Given the description of an element on the screen output the (x, y) to click on. 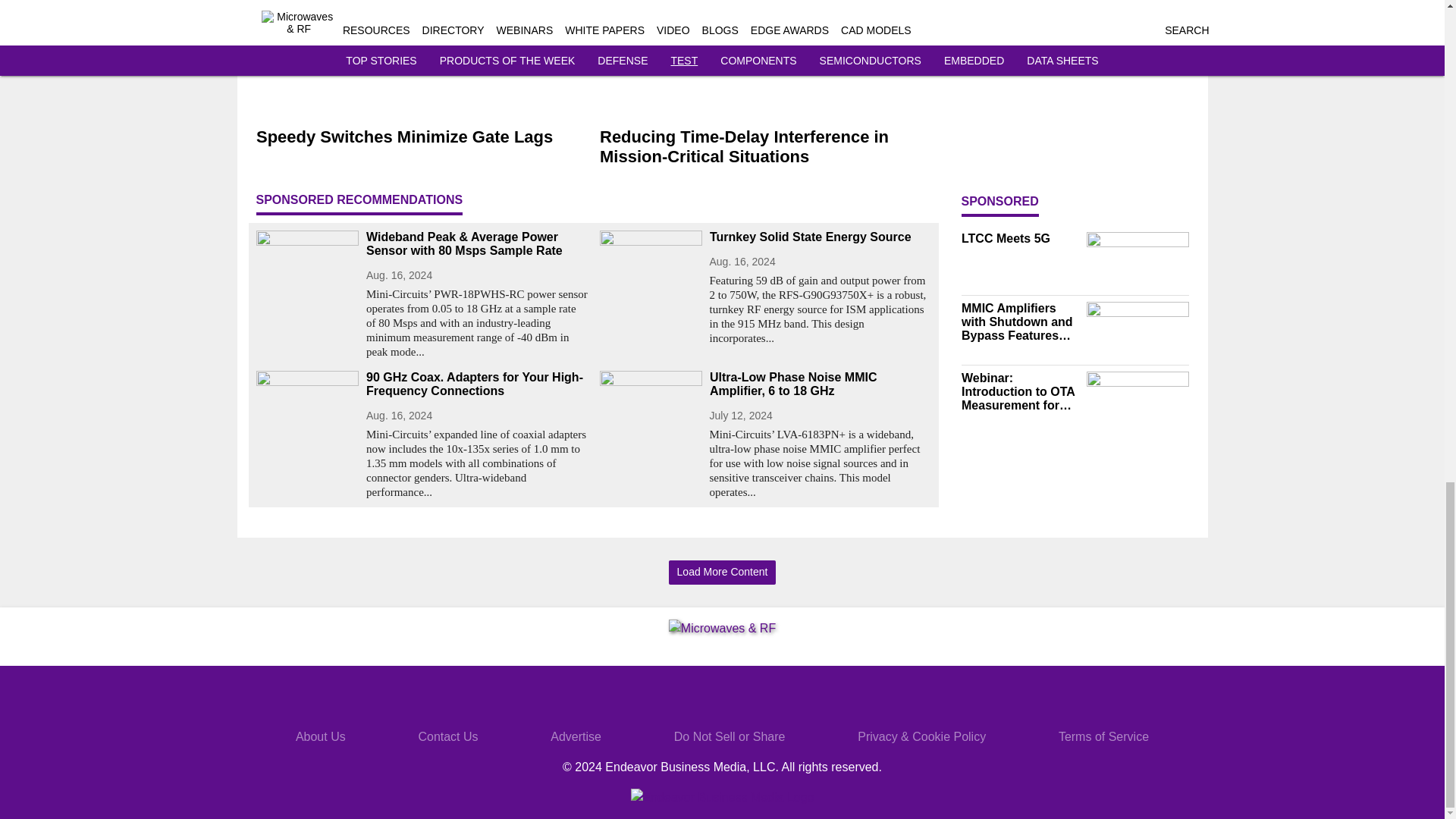
Speedy Switches Minimize Gate Lags (422, 137)
Turnkey Solid State Energy Source (820, 237)
90 GHz Coax. Adapters for Your High-Frequency Connections (476, 384)
Ultra-Low Phase Noise MMIC Amplifier, 6 to 18 GHz (820, 384)
